Given the description of an element on the screen output the (x, y) to click on. 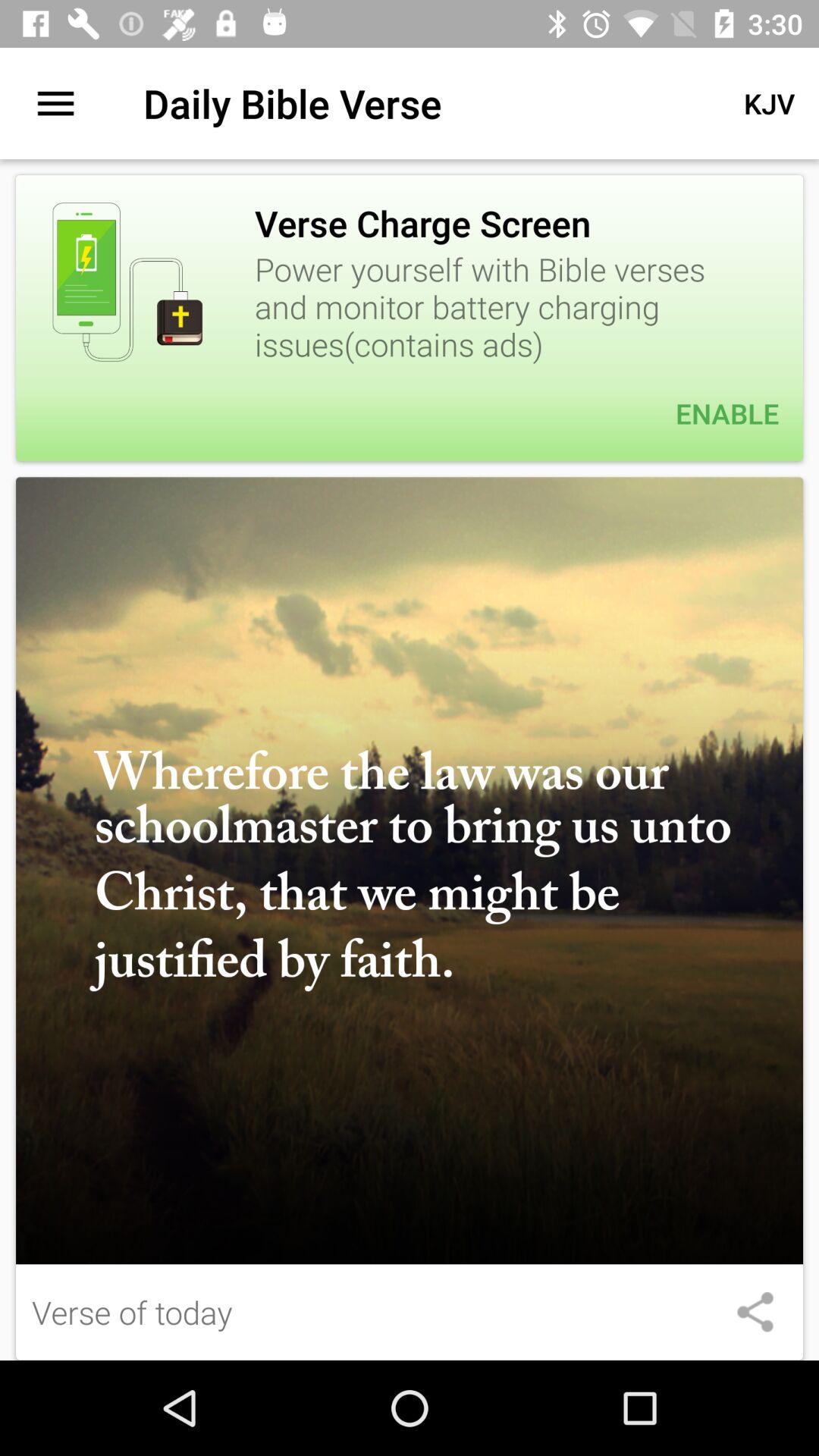
tap the item next to daily bible verse app (769, 103)
